Given the description of an element on the screen output the (x, y) to click on. 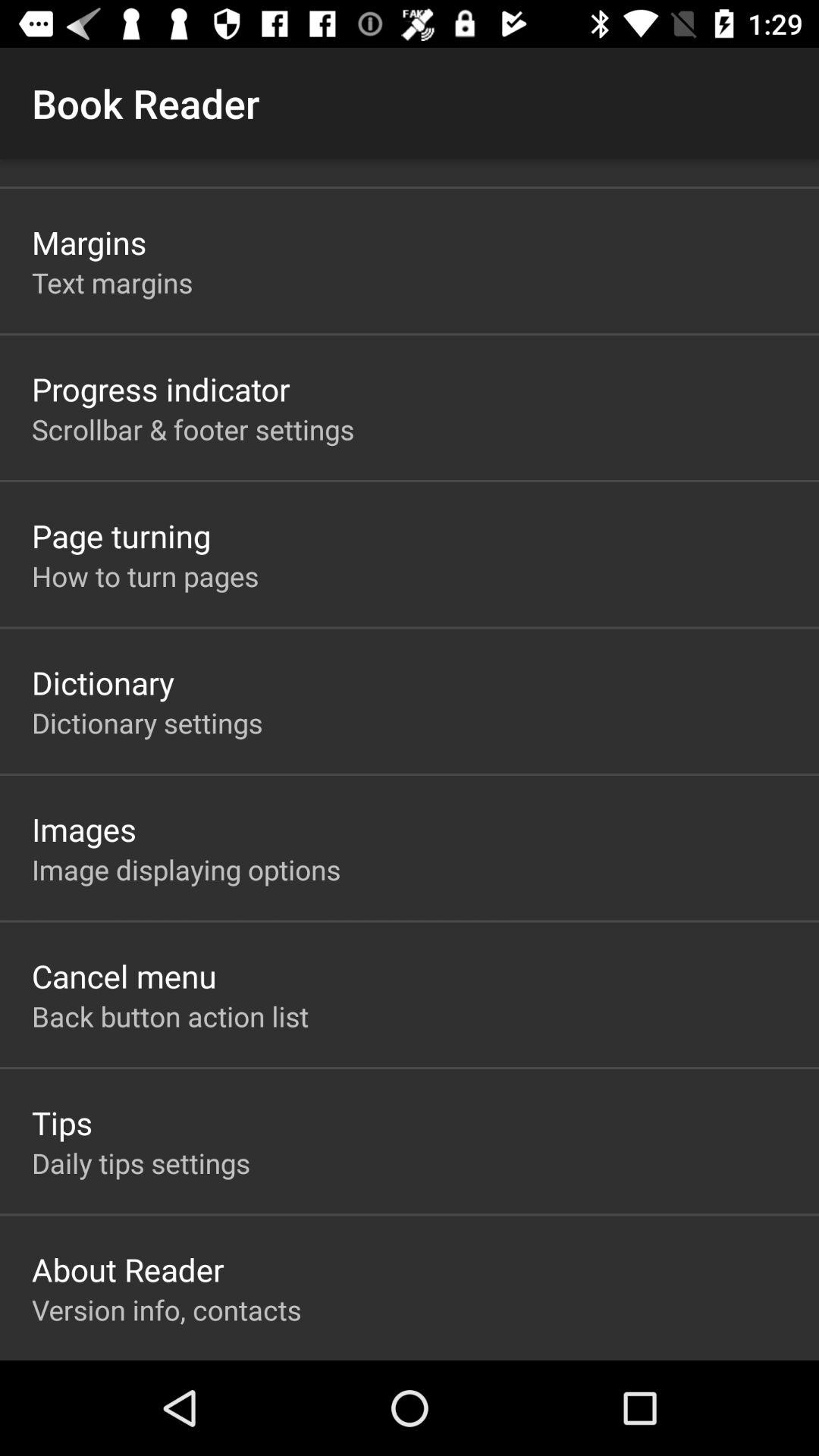
choose page turning app (121, 535)
